Given the description of an element on the screen output the (x, y) to click on. 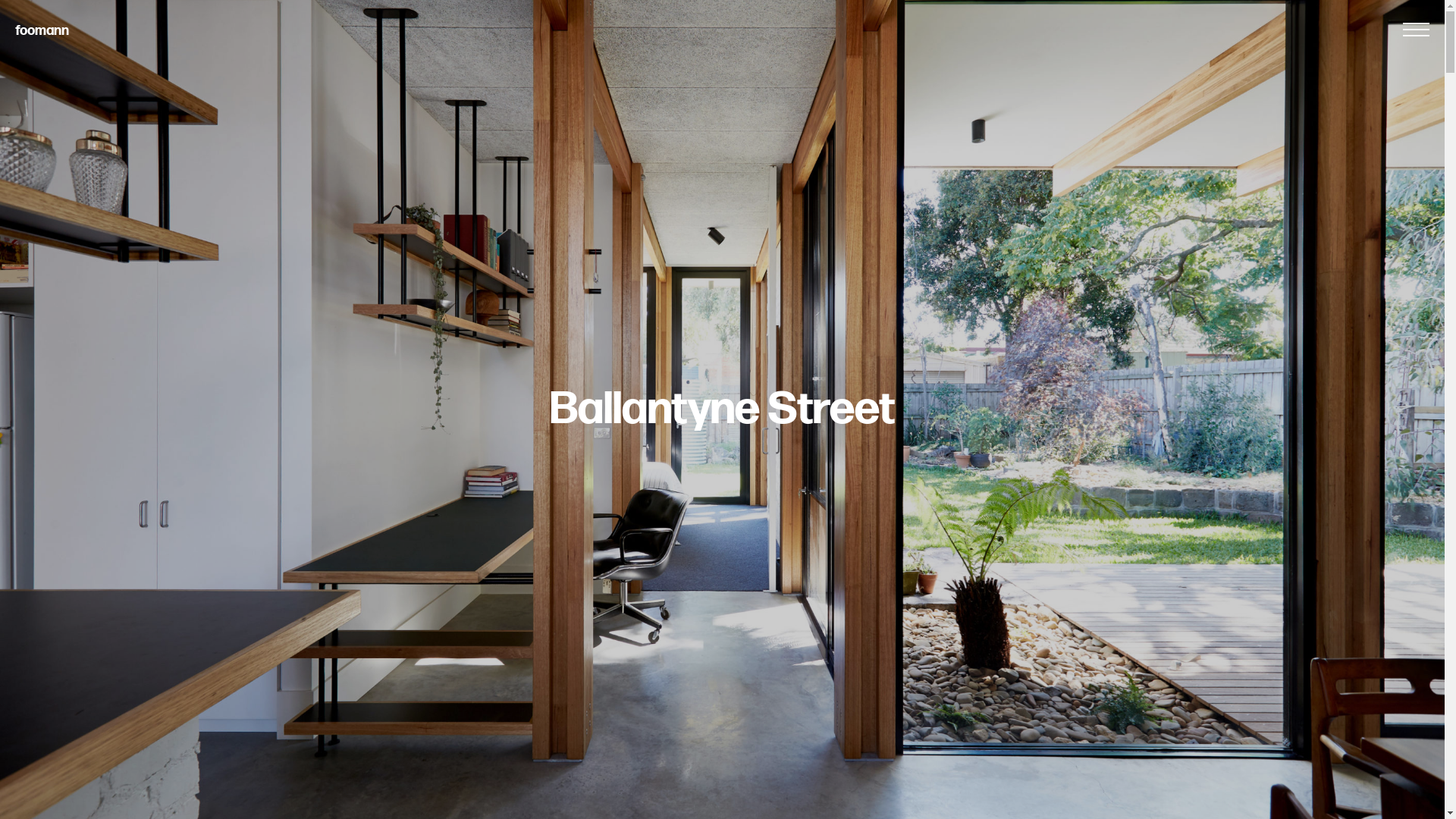
foomann Element type: text (42, 30)
